Given the description of an element on the screen output the (x, y) to click on. 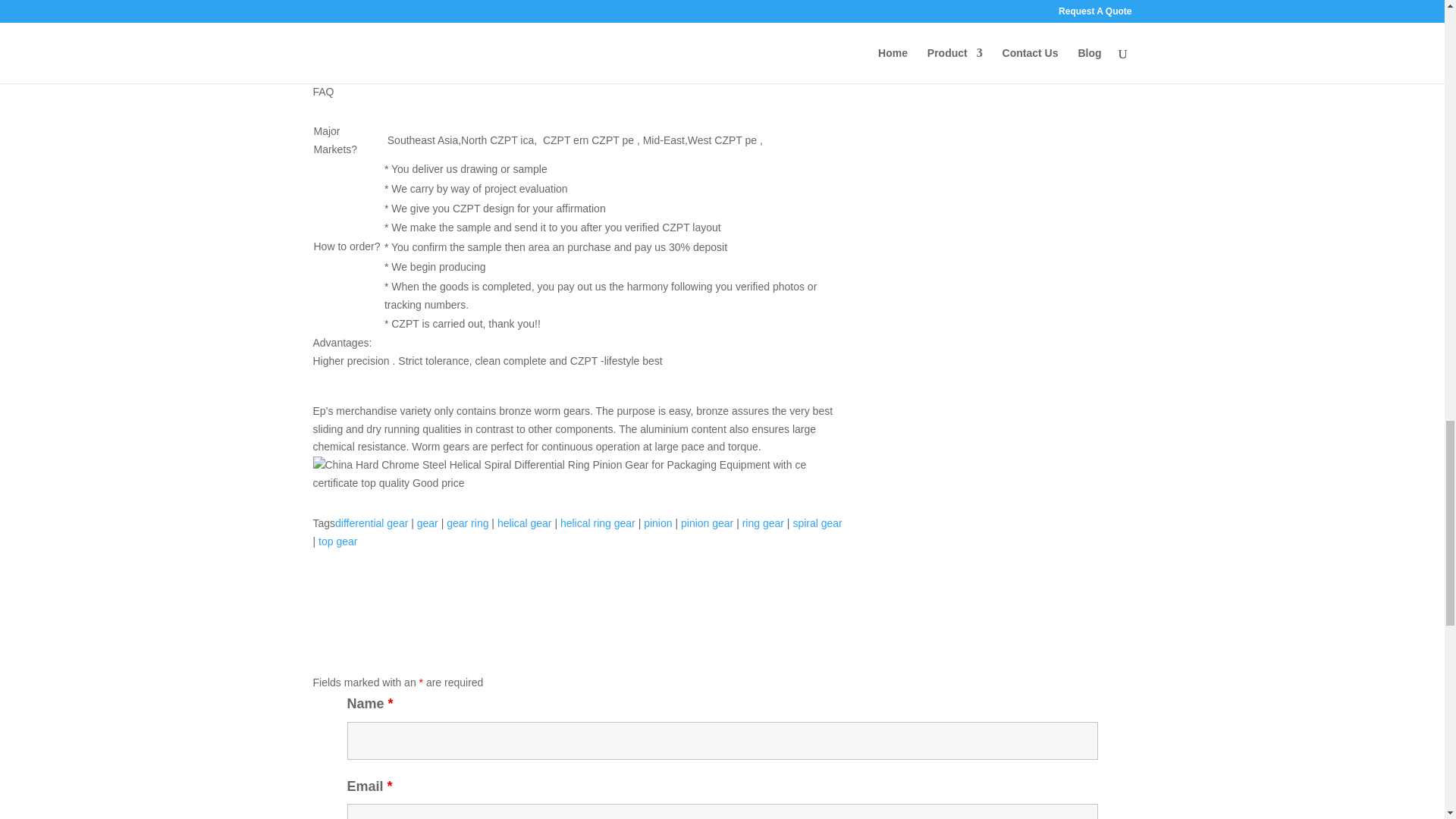
helical gear (524, 522)
spiral gear (816, 522)
gear (427, 522)
gear ring (466, 522)
pinion (657, 522)
helical ring gear (597, 522)
top gear (337, 541)
differential gear (370, 522)
ring gear (763, 522)
pinion gear (707, 522)
